Given the description of an element on the screen output the (x, y) to click on. 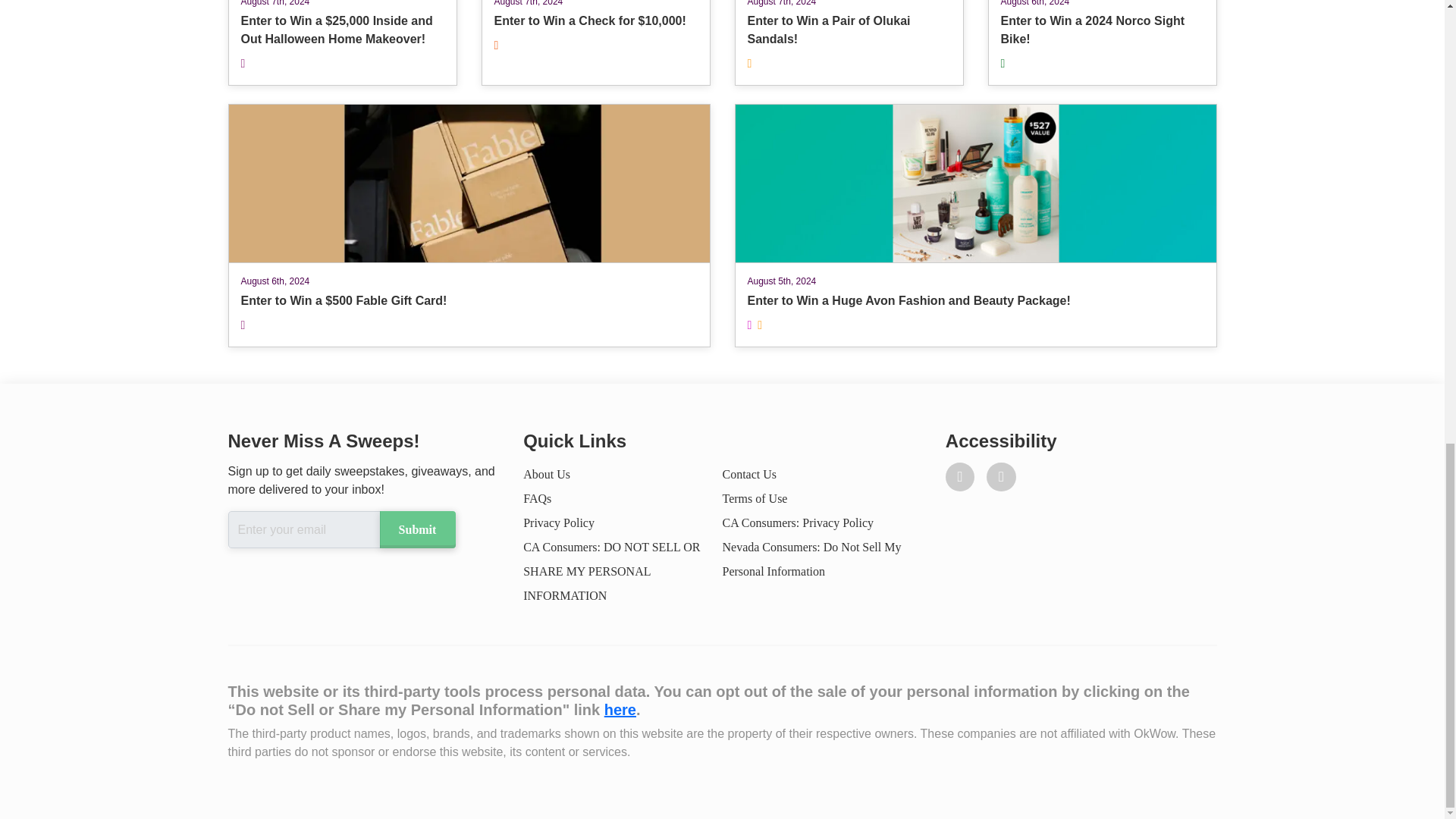
Submit (847, 42)
CA Consumers: Privacy Policy (416, 529)
Contact Us (797, 522)
About Us (749, 473)
FAQs (546, 473)
Terms of Use (536, 498)
Privacy Policy (1101, 42)
